Given the description of an element on the screen output the (x, y) to click on. 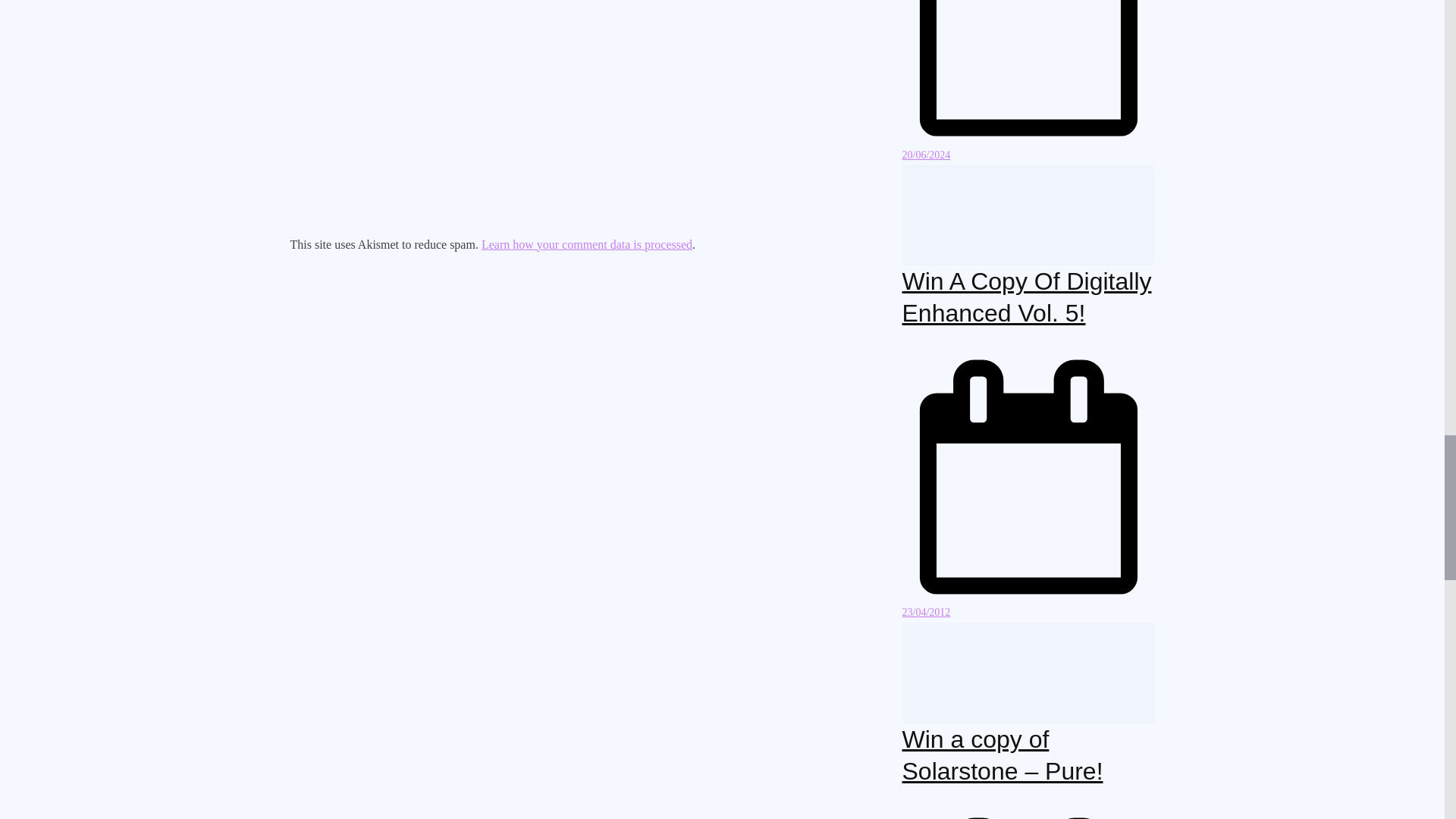
Learn how your comment data is processed (587, 244)
Win A Copy Of Digitally Enhanced Vol. 5! (1026, 296)
Comment Form (584, 113)
